Given the description of an element on the screen output the (x, y) to click on. 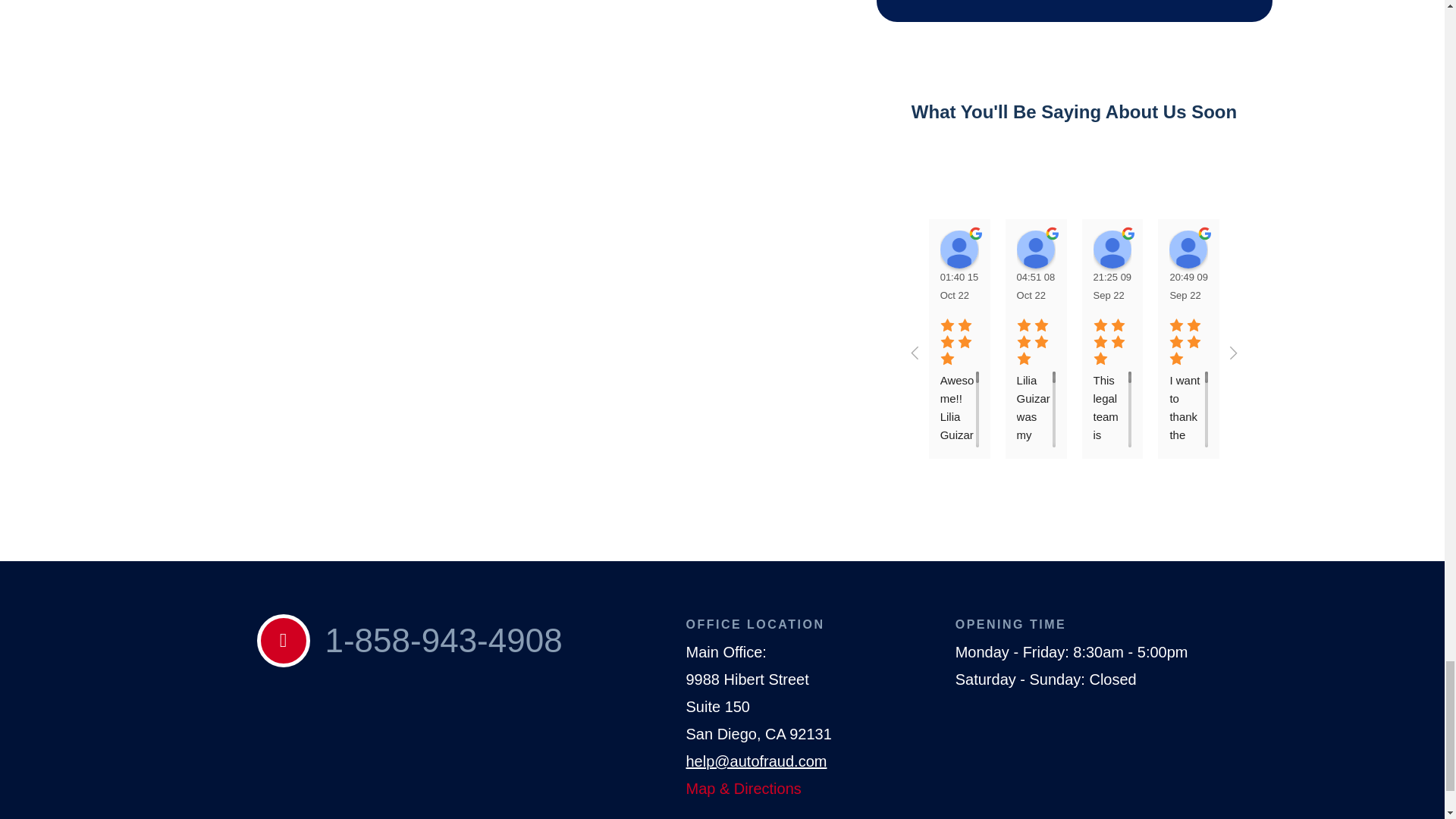
Tiffany Sidwell (1035, 249)
Jocilyn Hubert (1112, 249)
Pocho Productions (1265, 249)
Vianey Salgado (1188, 249)
Angela Fraticelli (959, 249)
